Given the description of an element on the screen output the (x, y) to click on. 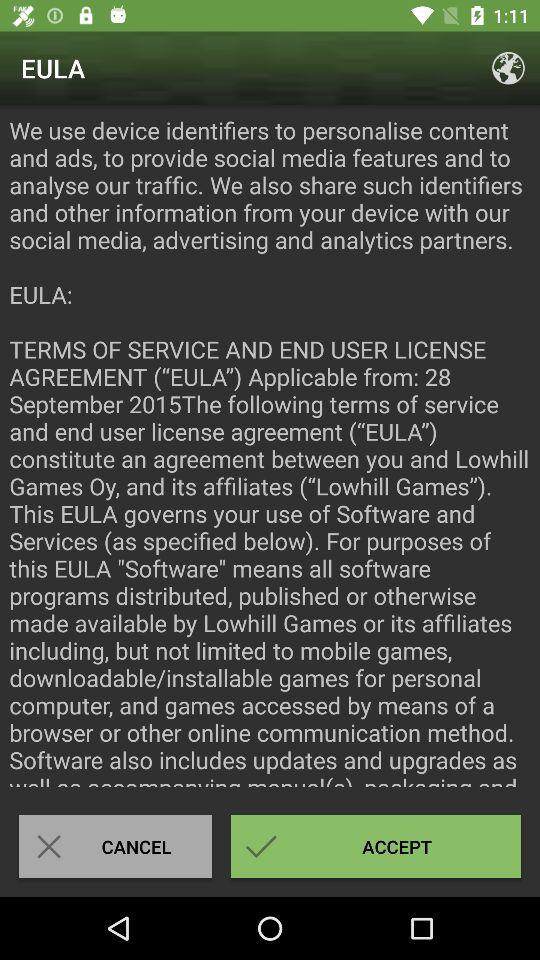
scroll to cancel item (115, 846)
